Given the description of an element on the screen output the (x, y) to click on. 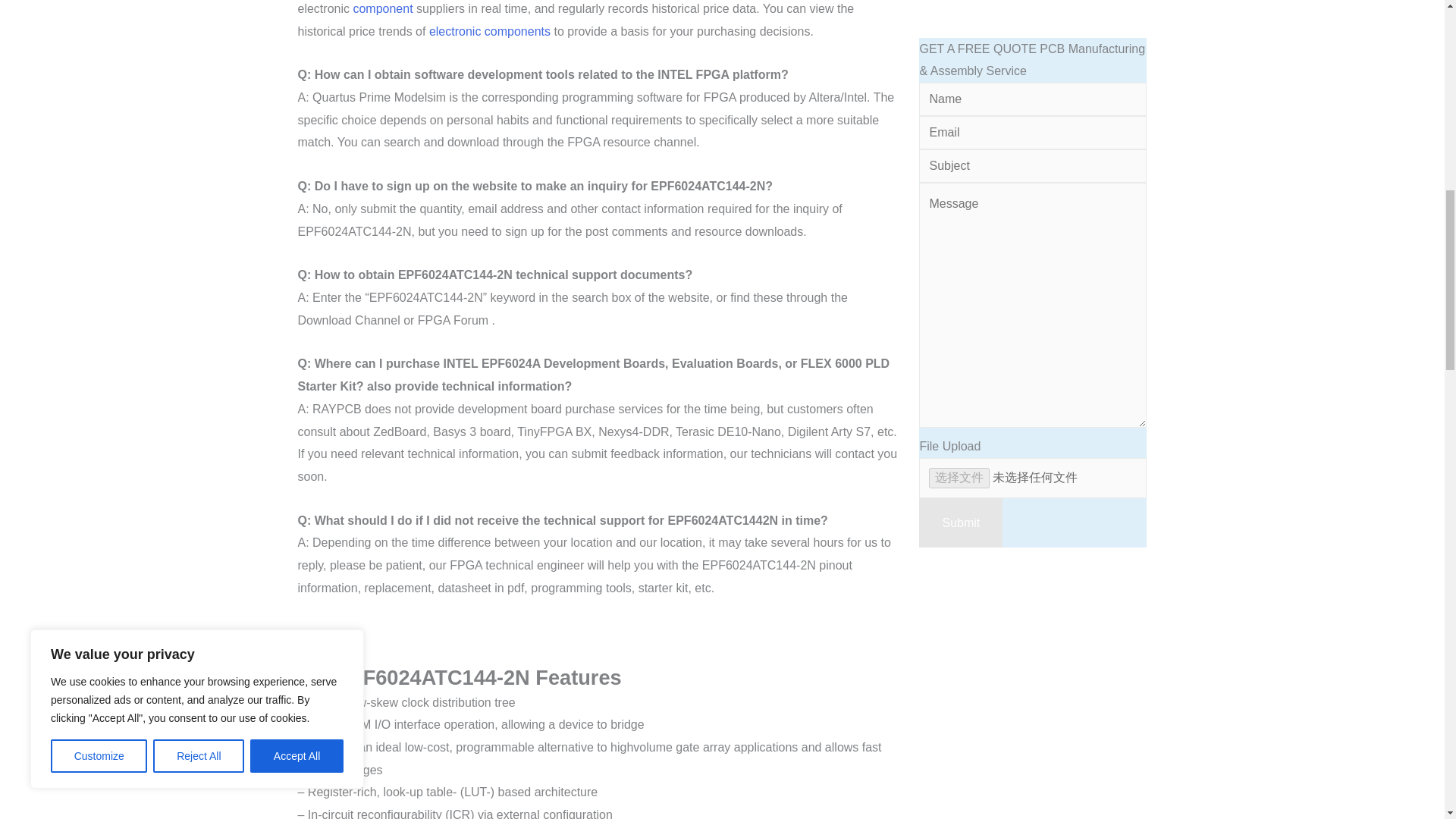
component (382, 8)
electronic components (489, 31)
